Given the description of an element on the screen output the (x, y) to click on. 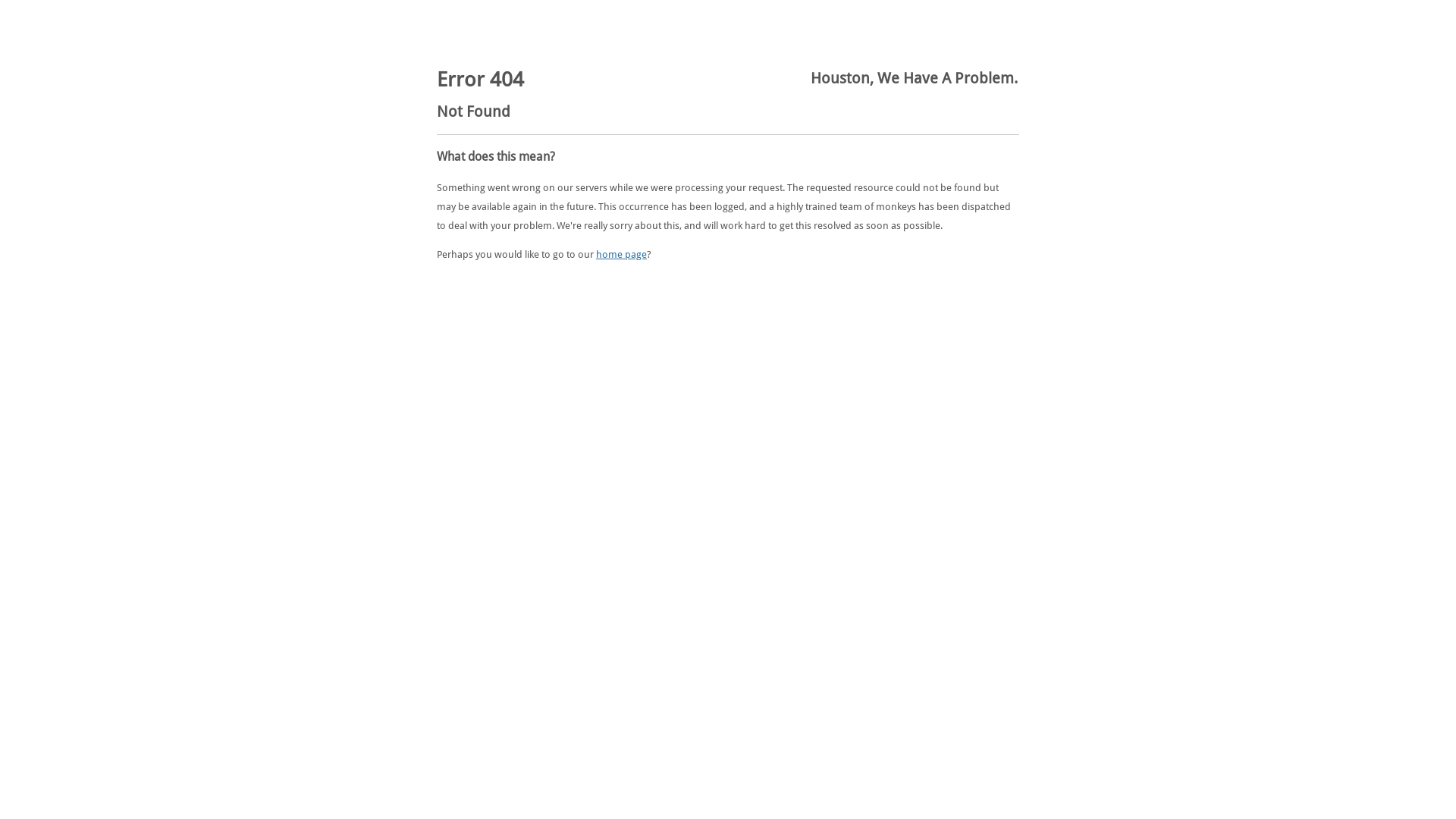
home page Element type: text (621, 254)
